Given the description of an element on the screen output the (x, y) to click on. 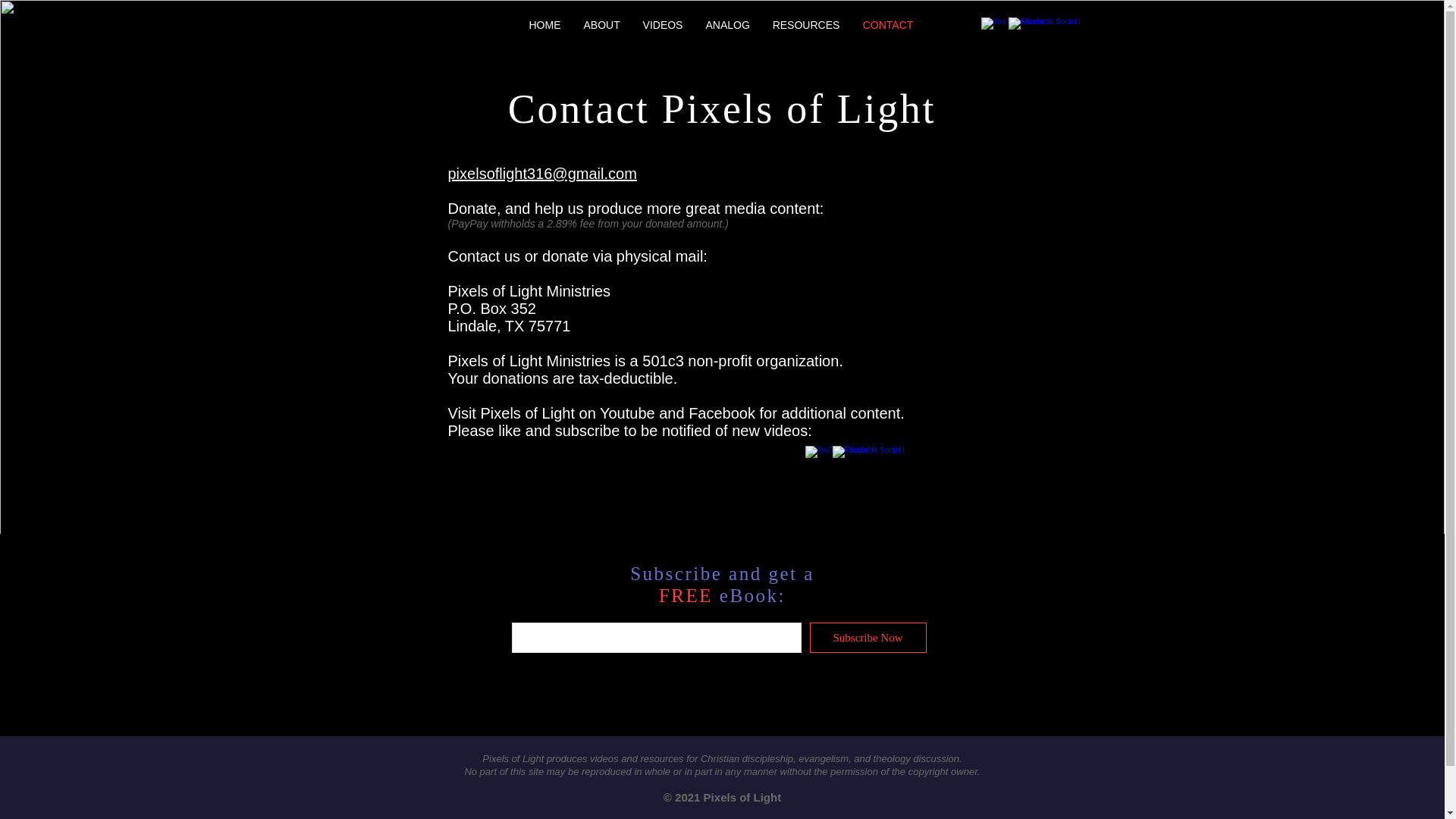
RESOURCES (806, 24)
VIDEOS (662, 24)
HOME (544, 24)
ANALOG (727, 24)
CONTACT (887, 24)
ABOUT (601, 24)
Subscribe Now (867, 637)
